Given the description of an element on the screen output the (x, y) to click on. 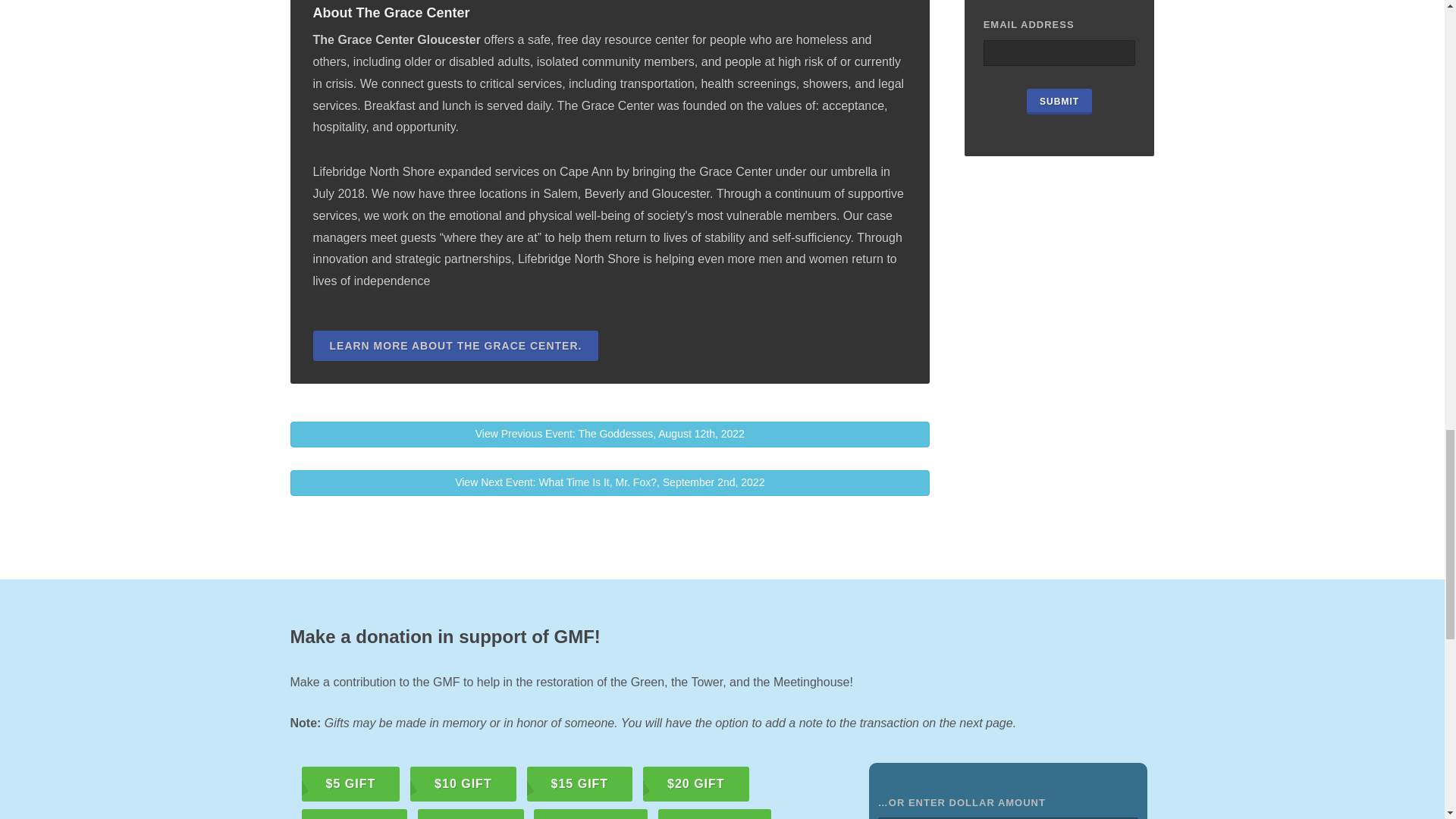
Submit (1059, 101)
